Given the description of an element on the screen output the (x, y) to click on. 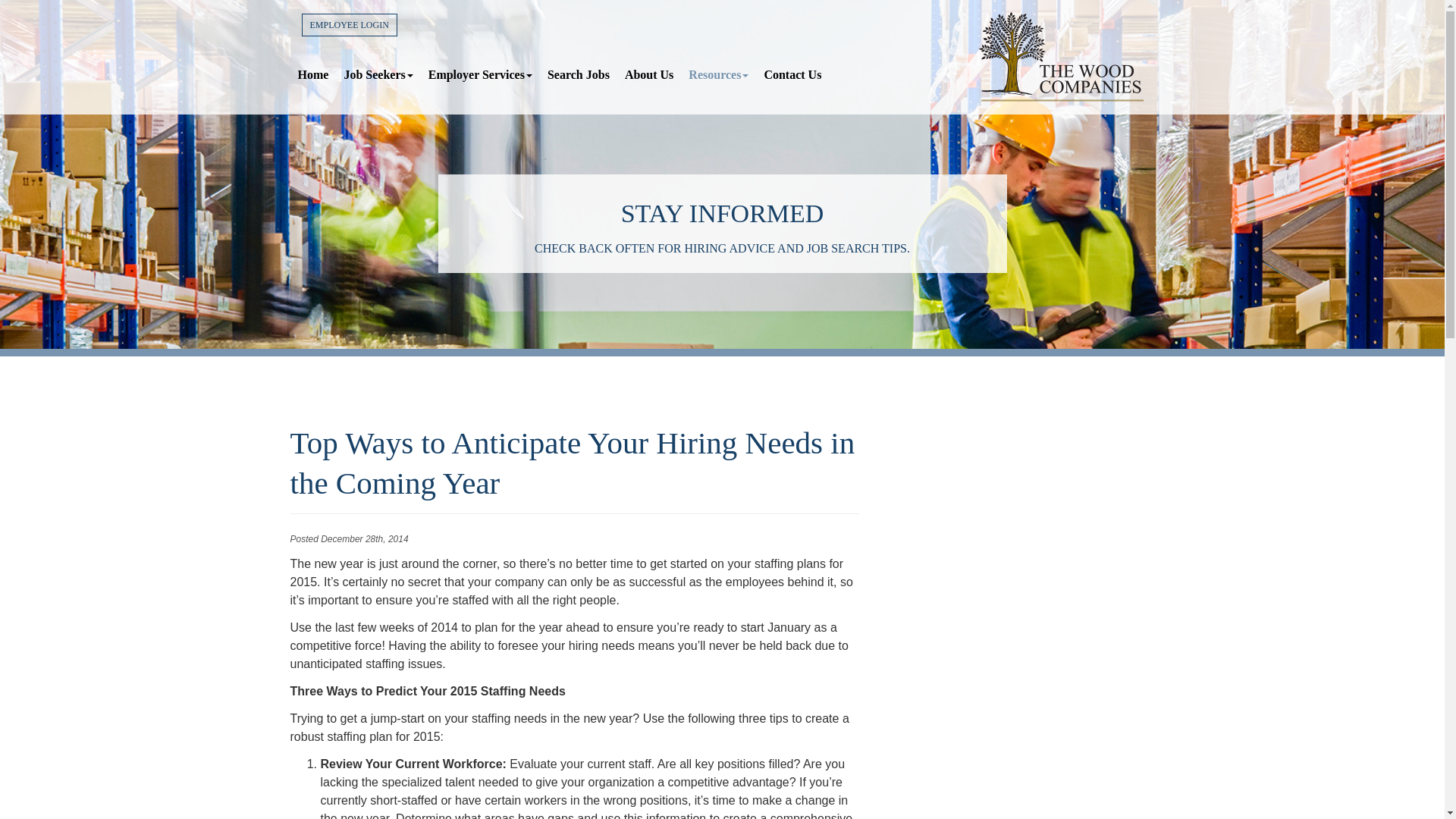
About Us (649, 74)
Employer Services (480, 74)
Home (312, 74)
Search Jobs (578, 74)
Job Seekers (378, 74)
EMPLOYEE LOGIN (349, 24)
Contact Us (791, 74)
The Wood Companies (1061, 56)
Resources (718, 74)
